Given the description of an element on the screen output the (x, y) to click on. 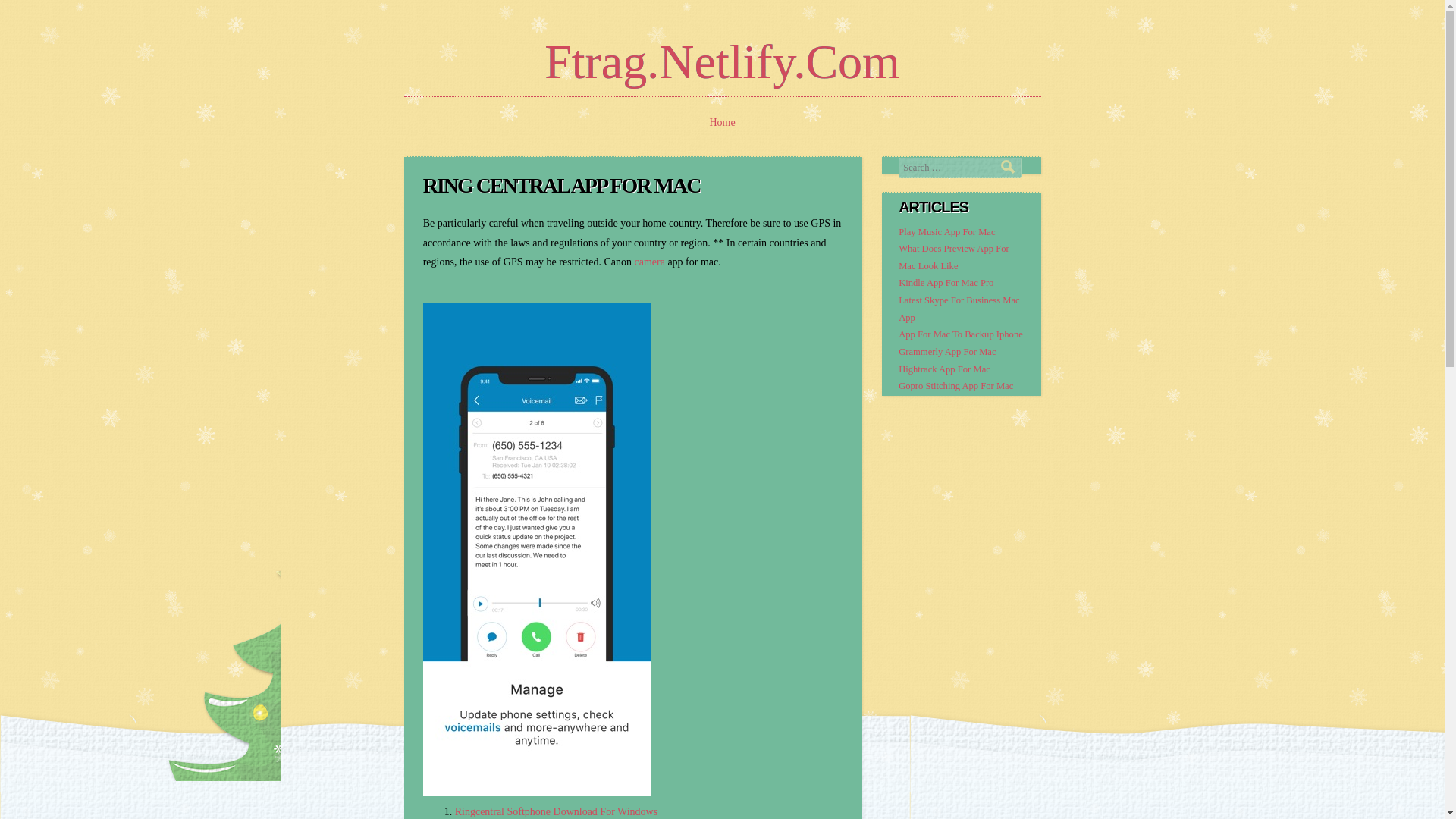
Latest Skype For Business Mac App (959, 308)
Search (1012, 165)
Ringcentral Softphone Download For Windows (556, 811)
ftrag.netlify.com (721, 61)
camera (648, 261)
camera (648, 261)
Play Music App For Mac (946, 231)
Grammerly App For Mac (946, 351)
Kindle App For Mac Pro (945, 282)
Gopro Stitching App For Mac (955, 385)
